Given the description of an element on the screen output the (x, y) to click on. 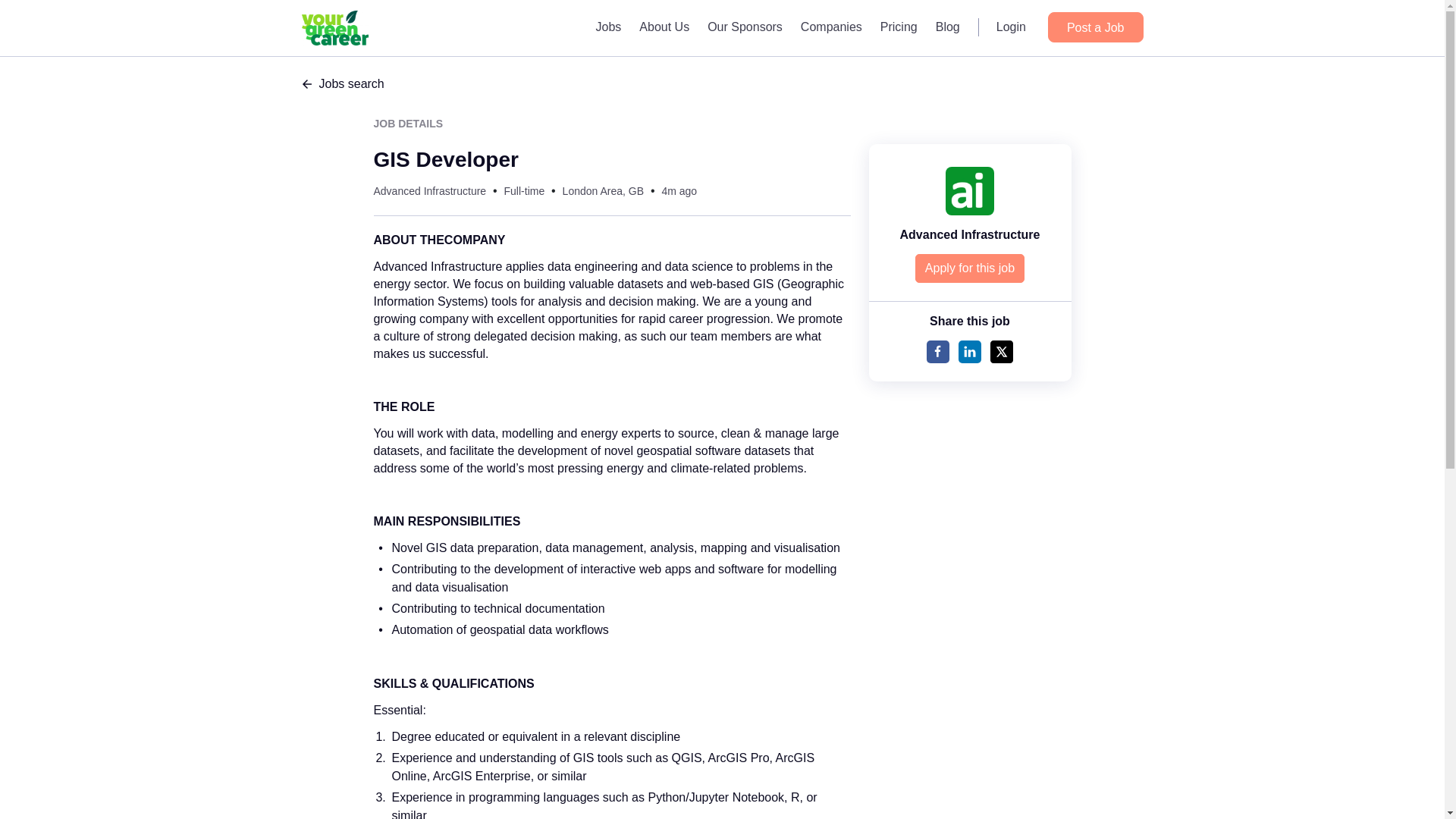
Share to Twitter (1001, 351)
Advanced Infrastructure (970, 234)
Share to FB (937, 351)
Companies (831, 26)
London Area, GB (602, 191)
Post a Job (1095, 27)
Apply for this job (970, 267)
Advanced Infrastructure (429, 191)
About Us (664, 26)
Pricing (898, 26)
